Given the description of an element on the screen output the (x, y) to click on. 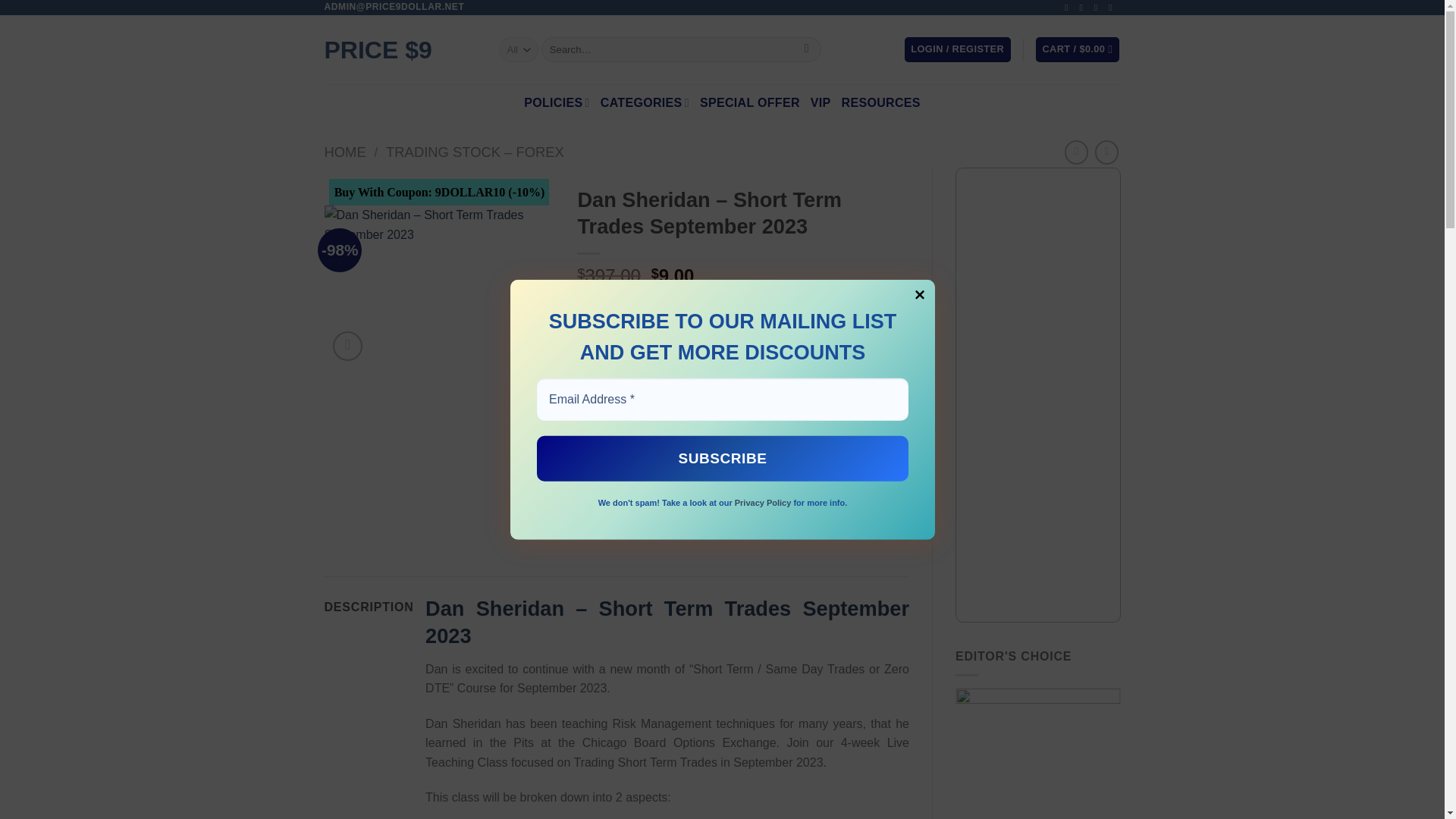
CATEGORIES (643, 103)
SPECIAL OFFER (749, 103)
Search (805, 49)
RESOURCES (880, 103)
Email Address (722, 398)
Cart (1077, 49)
Qty (609, 363)
POLICIES (556, 103)
HOME (345, 151)
1 (609, 363)
SUBSCRIBE (722, 457)
